Given the description of an element on the screen output the (x, y) to click on. 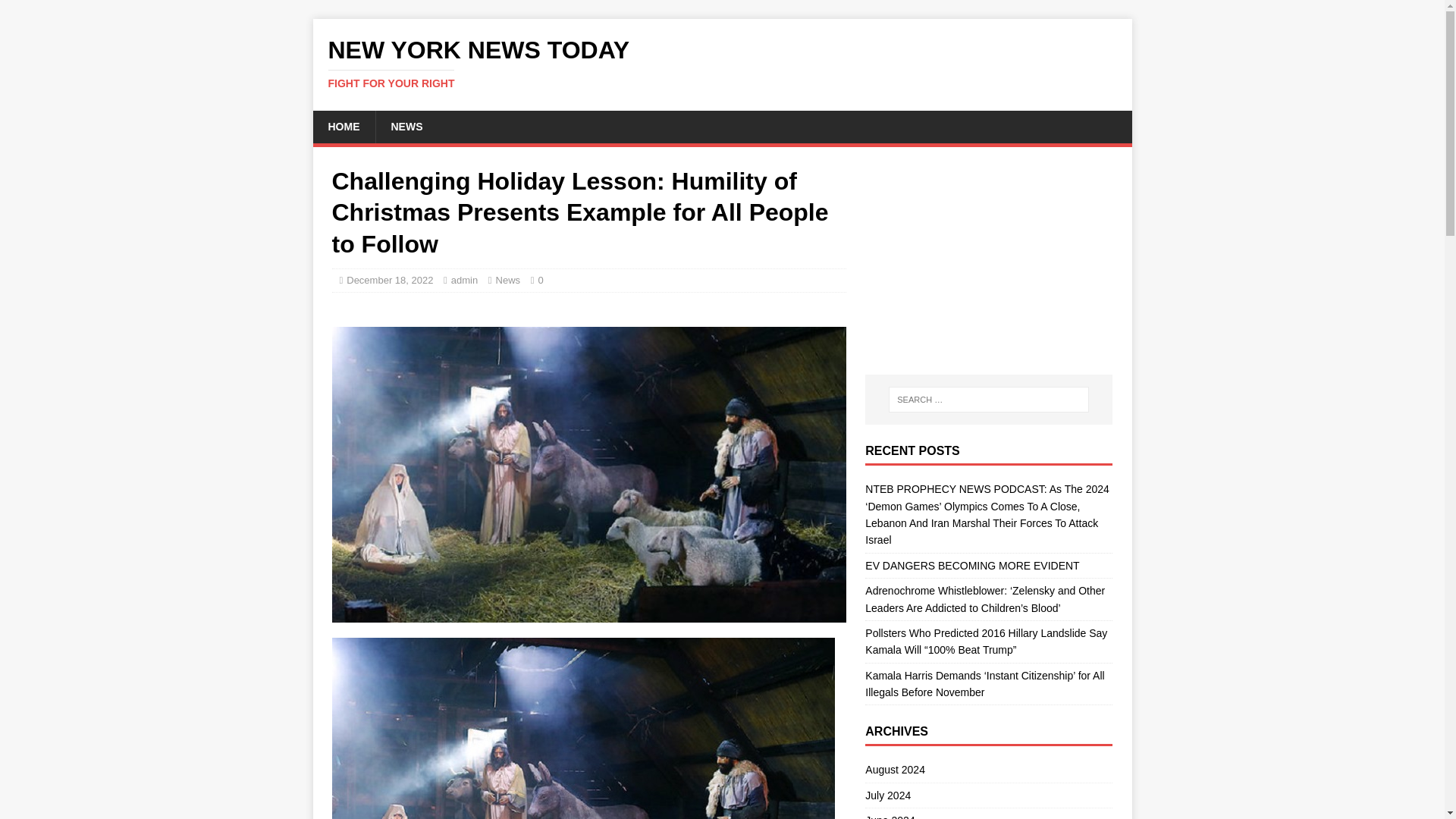
EV DANGERS BECOMING MORE EVIDENT (971, 565)
December 18, 2022 (389, 279)
admin (464, 279)
Search (56, 11)
June 2024 (988, 813)
August 2024 (988, 771)
HOME (343, 126)
Advertisement (988, 260)
July 2024 (988, 794)
New York News Today (721, 63)
